Given the description of an element on the screen output the (x, y) to click on. 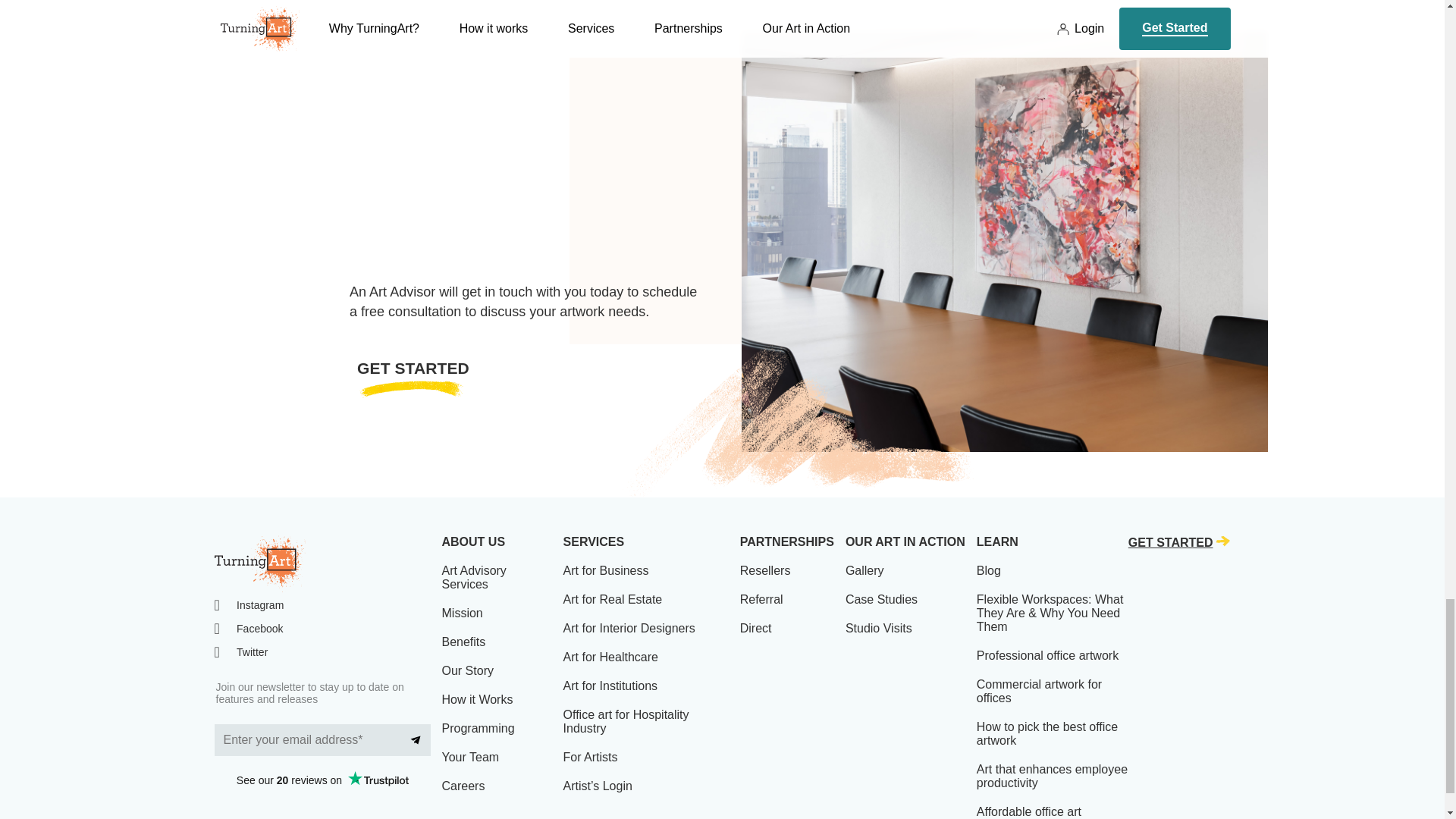
Submit (415, 739)
Customer reviews powered by Trustpilot (321, 780)
